Given the description of an element on the screen output the (x, y) to click on. 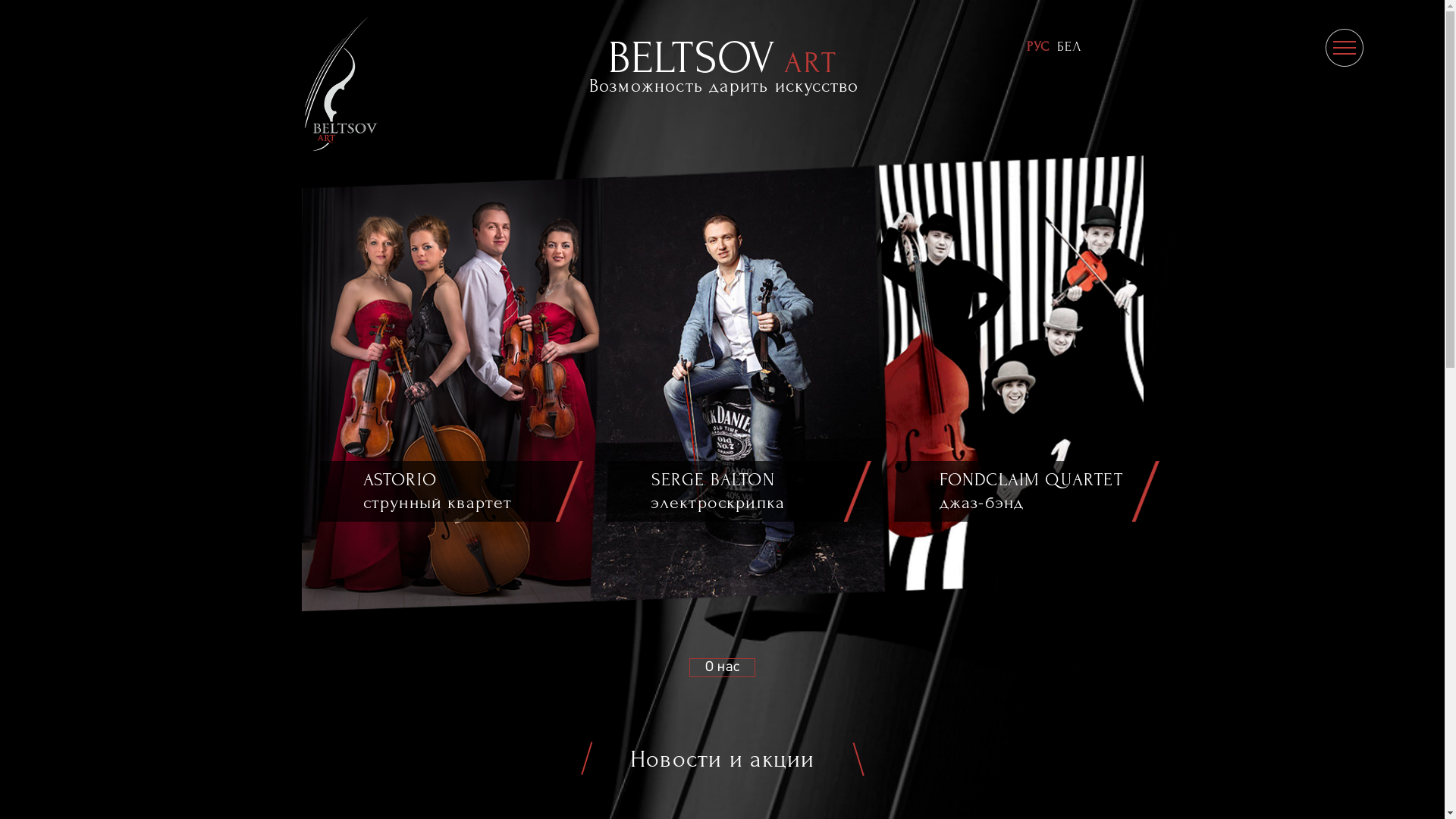
Beltsovart.by Element type: hover (343, 83)
